Given the description of an element on the screen output the (x, y) to click on. 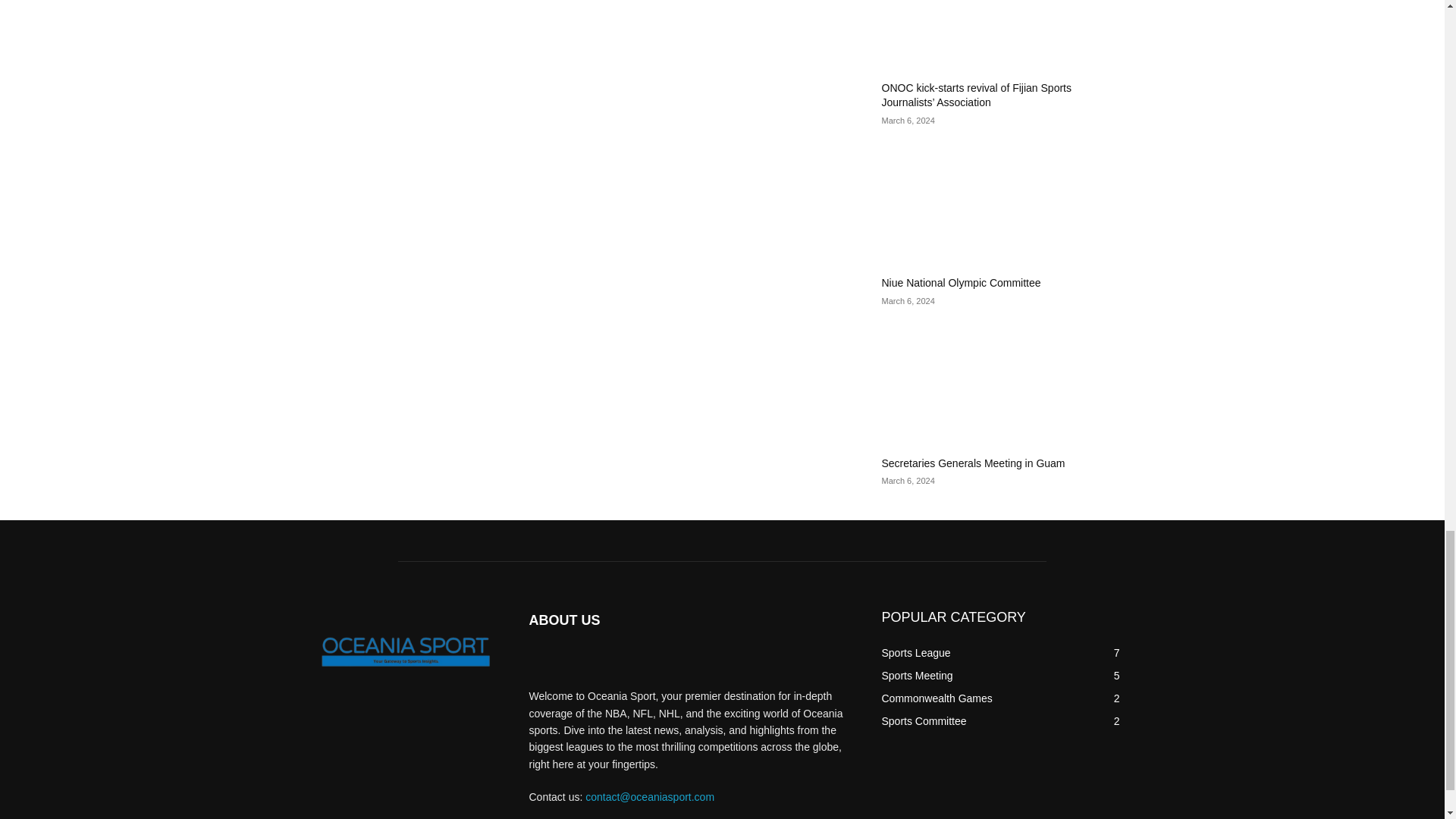
Niue National Olympic Committee (960, 282)
Niue National Olympic Committee (1003, 204)
